Given the description of an element on the screen output the (x, y) to click on. 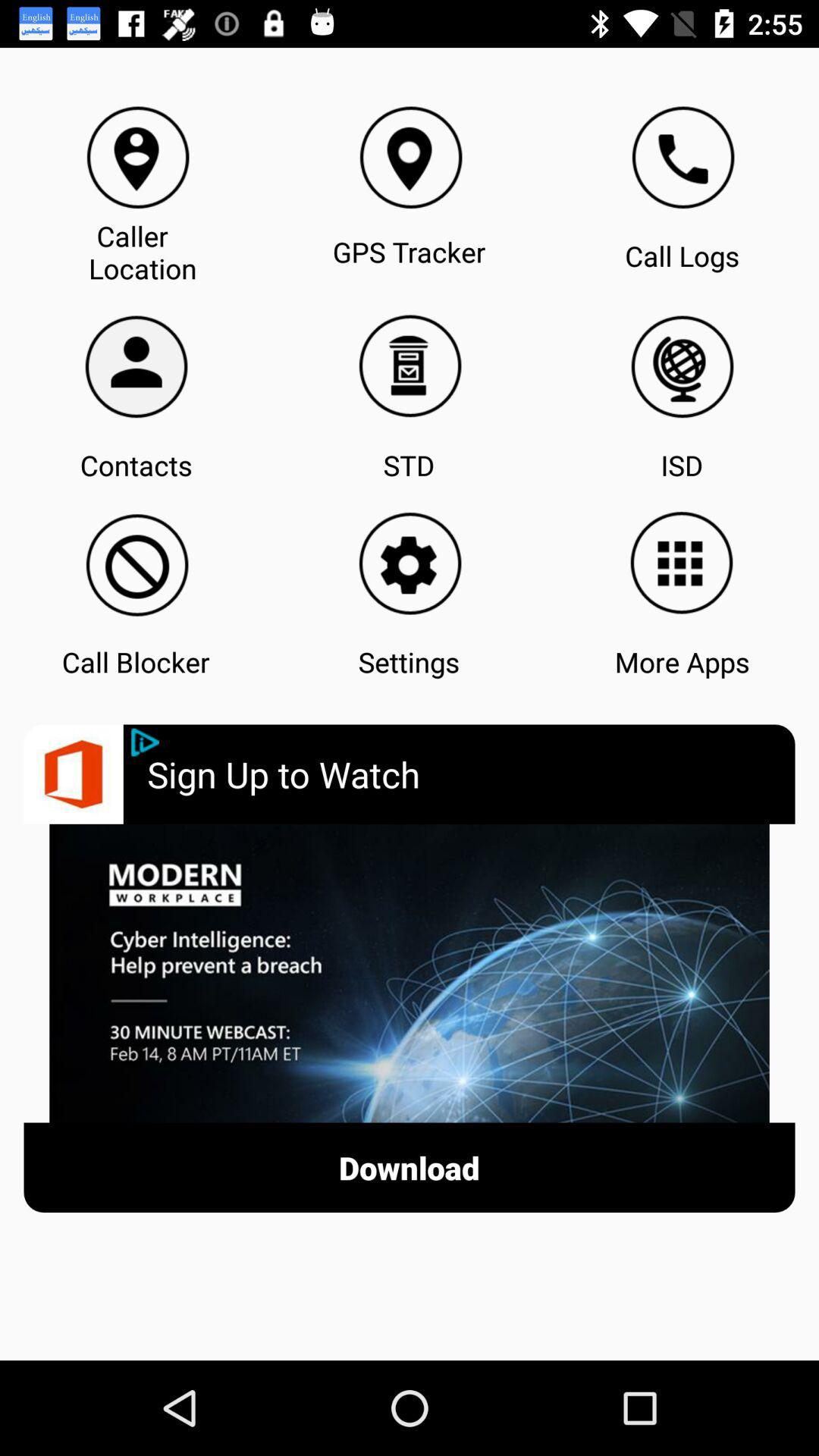
share the page (145, 742)
